Given the description of an element on the screen output the (x, y) to click on. 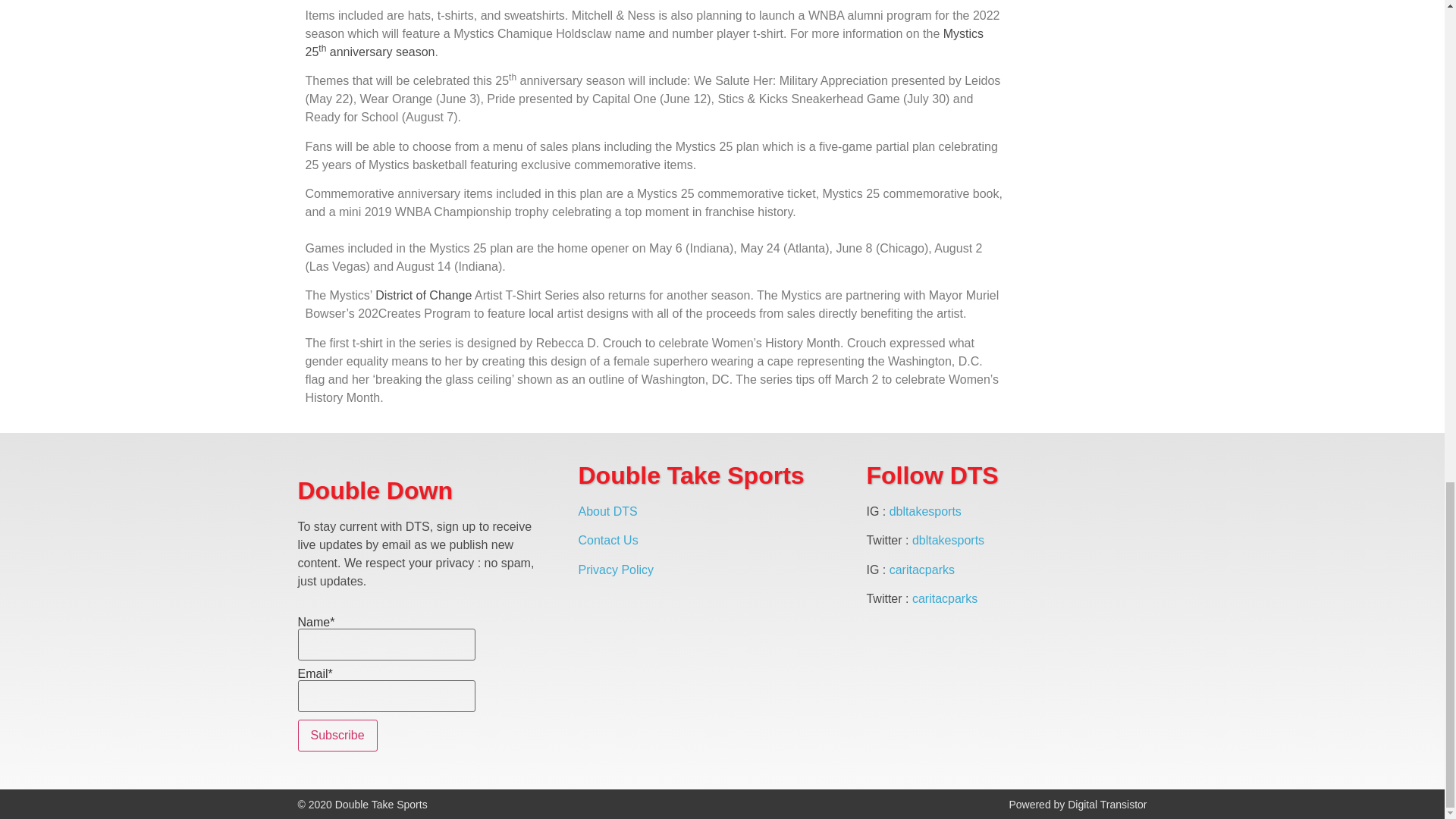
Contact Us (607, 540)
Mystics 25th anniversary season (644, 42)
dbltakesports (948, 540)
Subscribe (337, 735)
About DTS (607, 511)
caritacparks (922, 569)
dbltakesports (924, 511)
caritacparks (944, 598)
Privacy Policy (615, 569)
Subscribe (337, 735)
District of Change (423, 295)
